Given the description of an element on the screen output the (x, y) to click on. 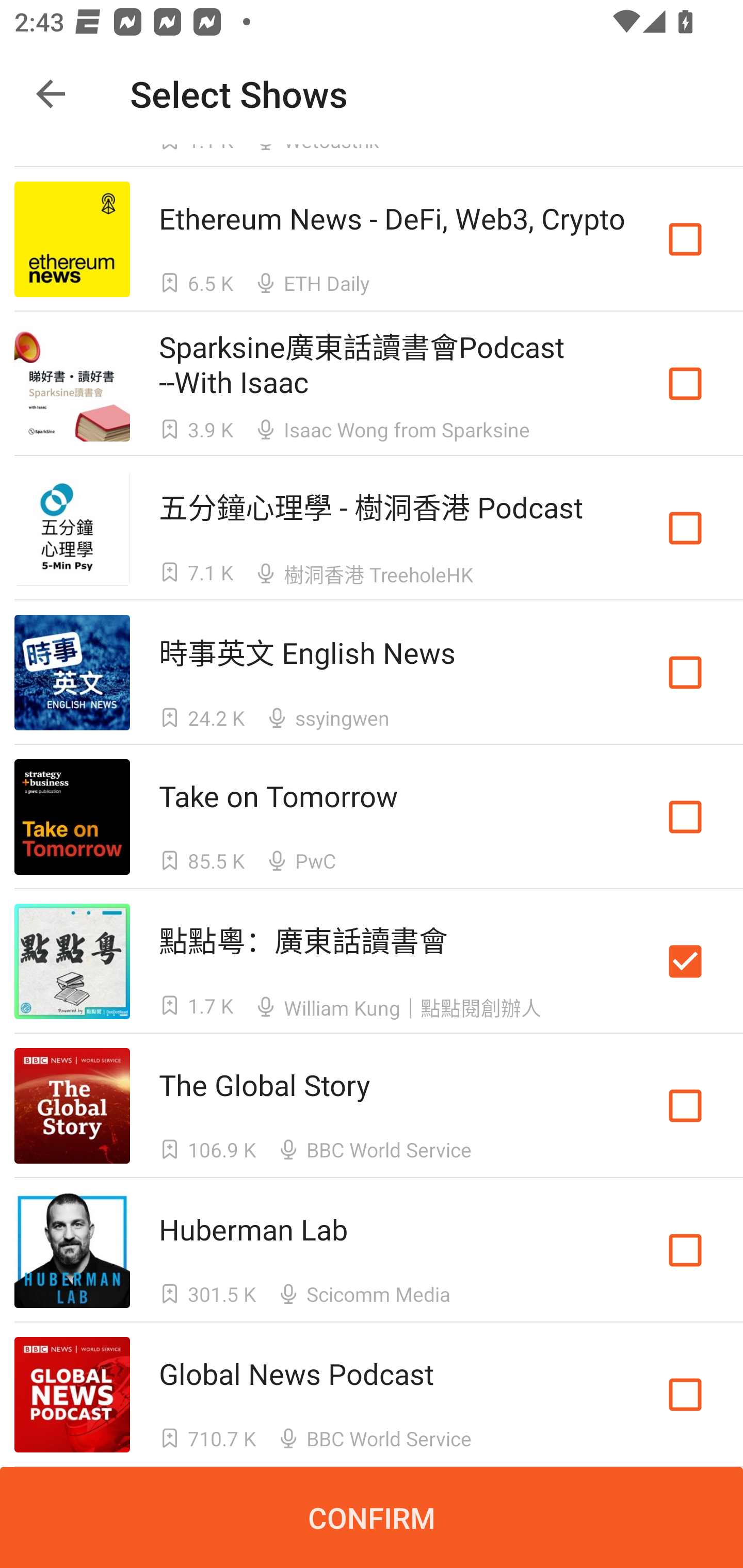
Navigate up (50, 93)
Take on Tomorrow Take on Tomorrow  85.5 K  PwC (371, 816)
CONFIRM (371, 1517)
